Given the description of an element on the screen output the (x, y) to click on. 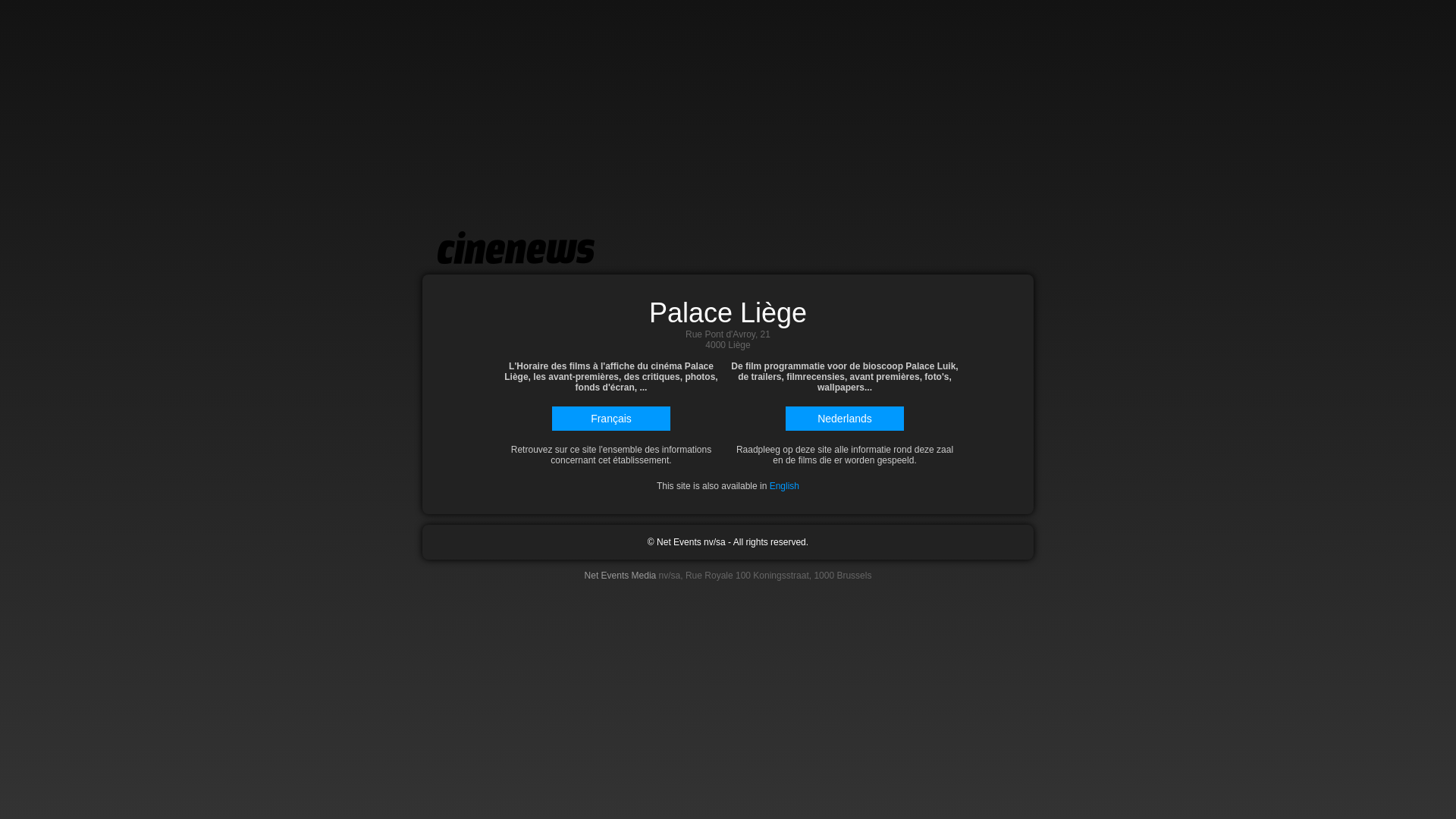
Net Events Media Element type: text (620, 575)
English Element type: text (784, 485)
Nederlands Element type: text (844, 418)
